Given the description of an element on the screen output the (x, y) to click on. 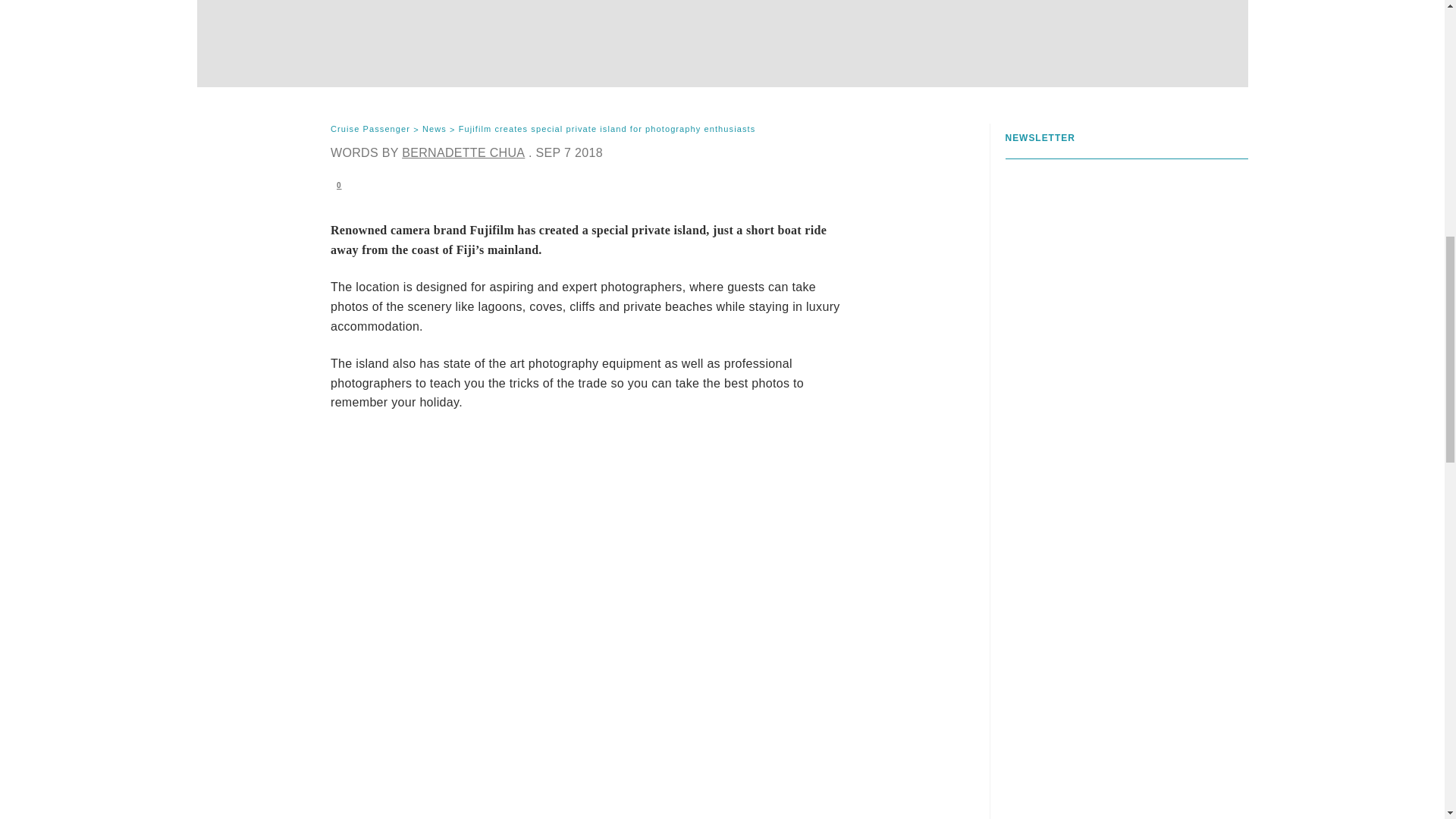
BERNADETTE CHUA (462, 152)
Go to the News Category archives. (434, 129)
News (434, 129)
Go to Cruise Passenger. (370, 129)
Cruise Passenger (370, 129)
